Given the description of an element on the screen output the (x, y) to click on. 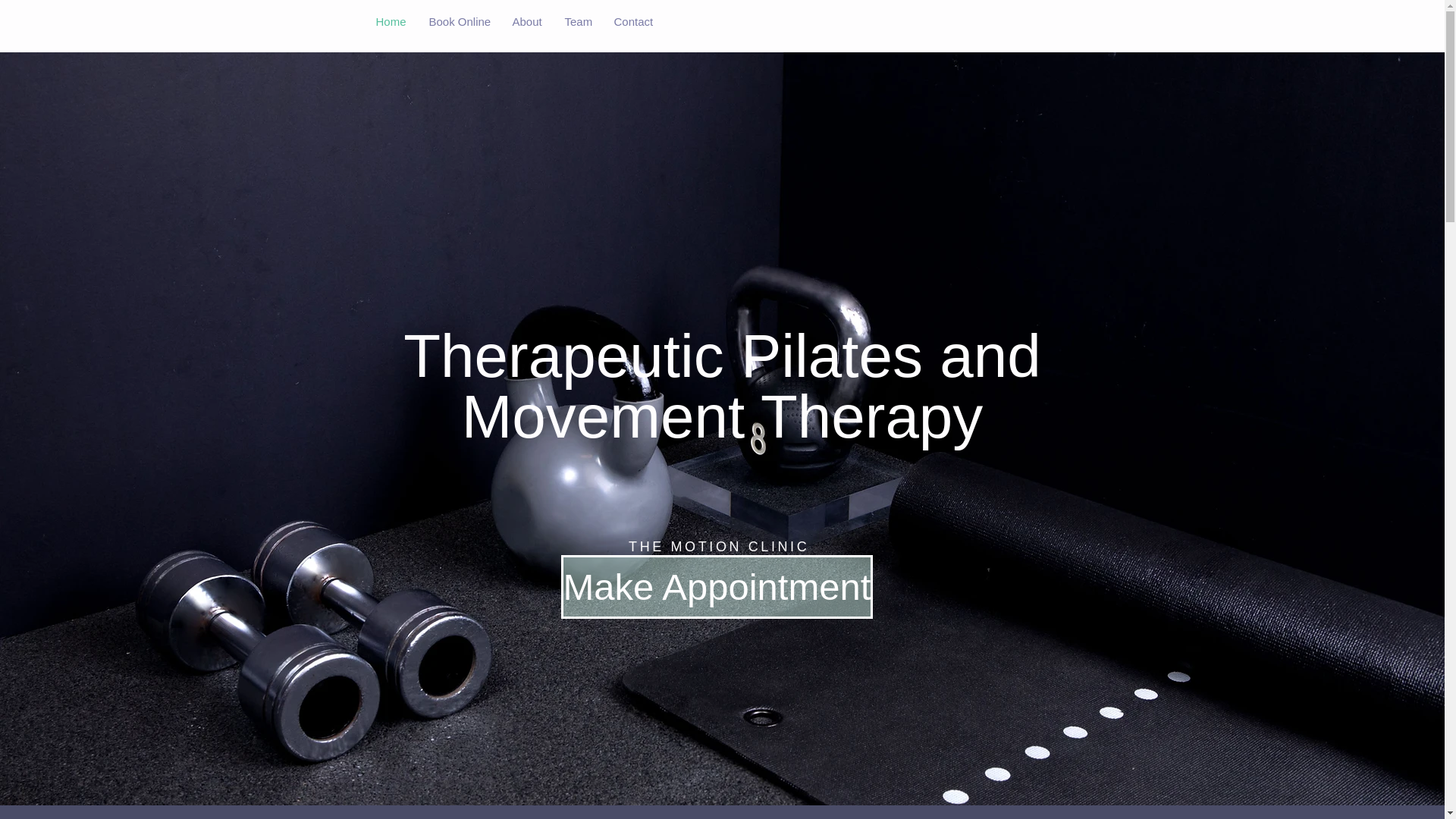
About (526, 21)
Team (577, 21)
Make Appointment (716, 587)
Book Online (458, 21)
Home (390, 21)
Contact (632, 21)
